Given the description of an element on the screen output the (x, y) to click on. 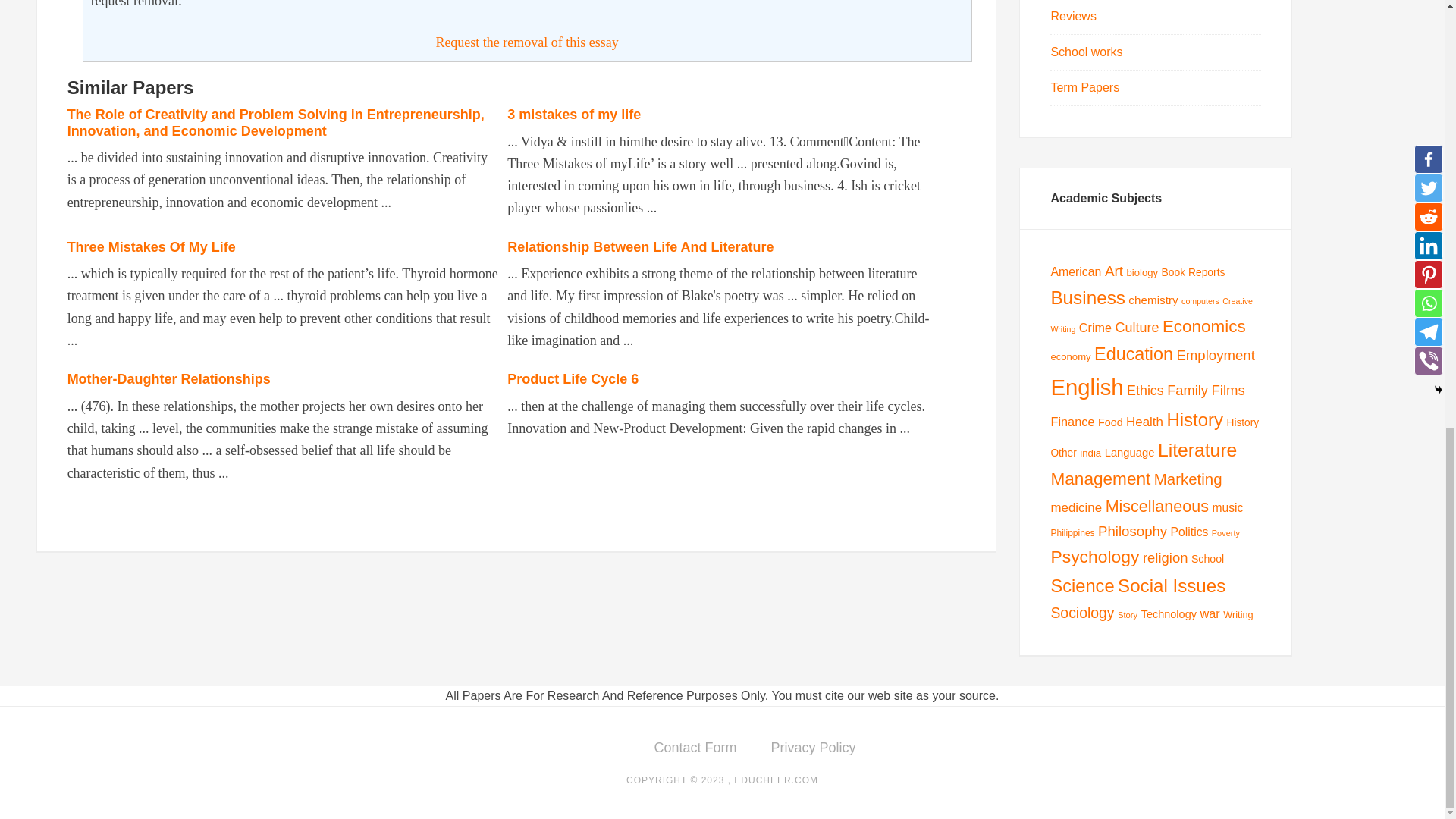
Three Mistakes Of My Life (150, 246)
Reviews (1072, 15)
3 mistakes of my life (573, 114)
Request the removal of this essay (526, 42)
Relationship Between Life And Literature (639, 246)
Product Life Cycle 6 (572, 378)
School works (1085, 51)
Term Papers (1084, 87)
Mother-Daughter Relationships (168, 378)
